Given the description of an element on the screen output the (x, y) to click on. 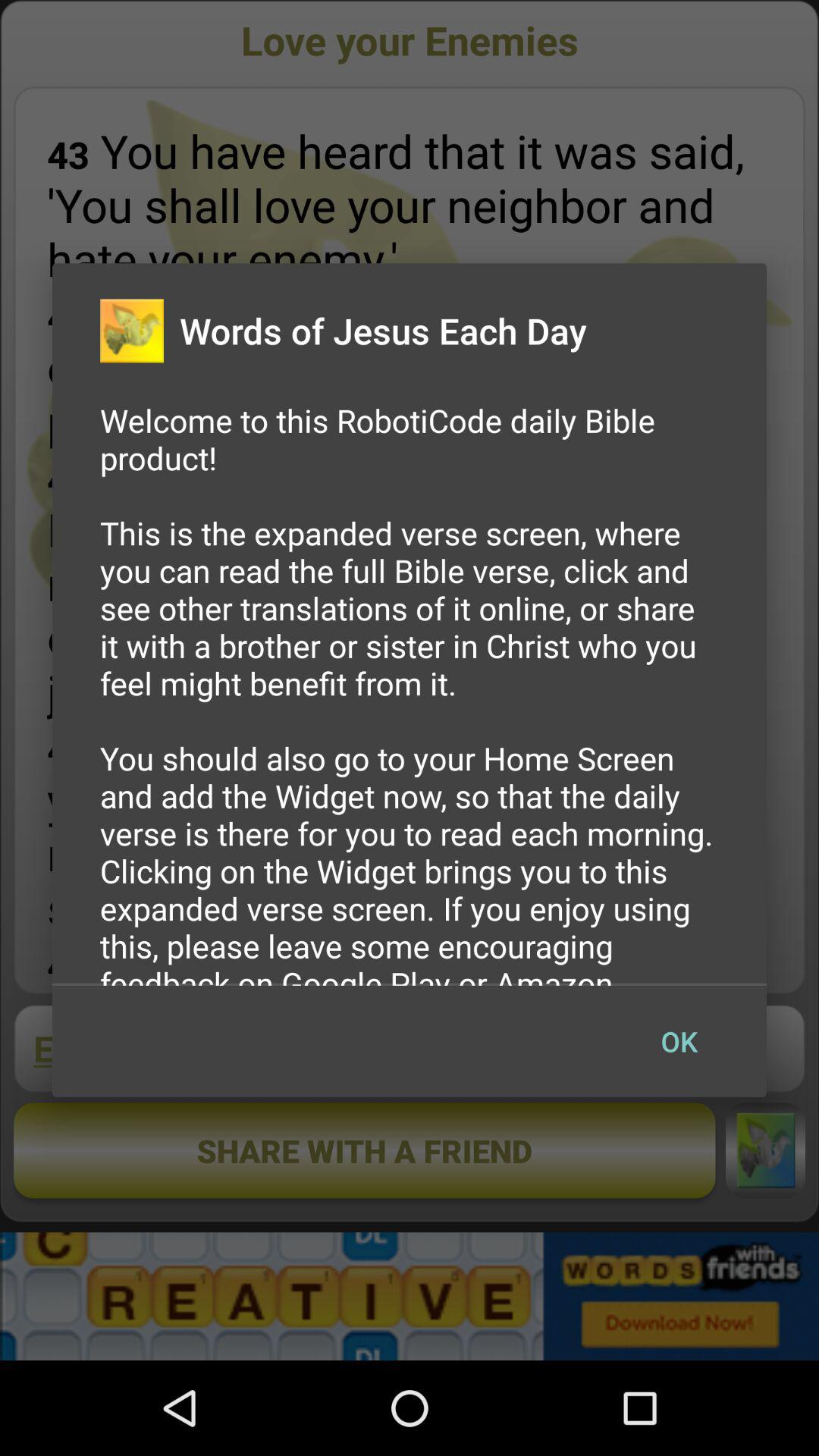
select ok at the bottom right corner (678, 1041)
